Given the description of an element on the screen output the (x, y) to click on. 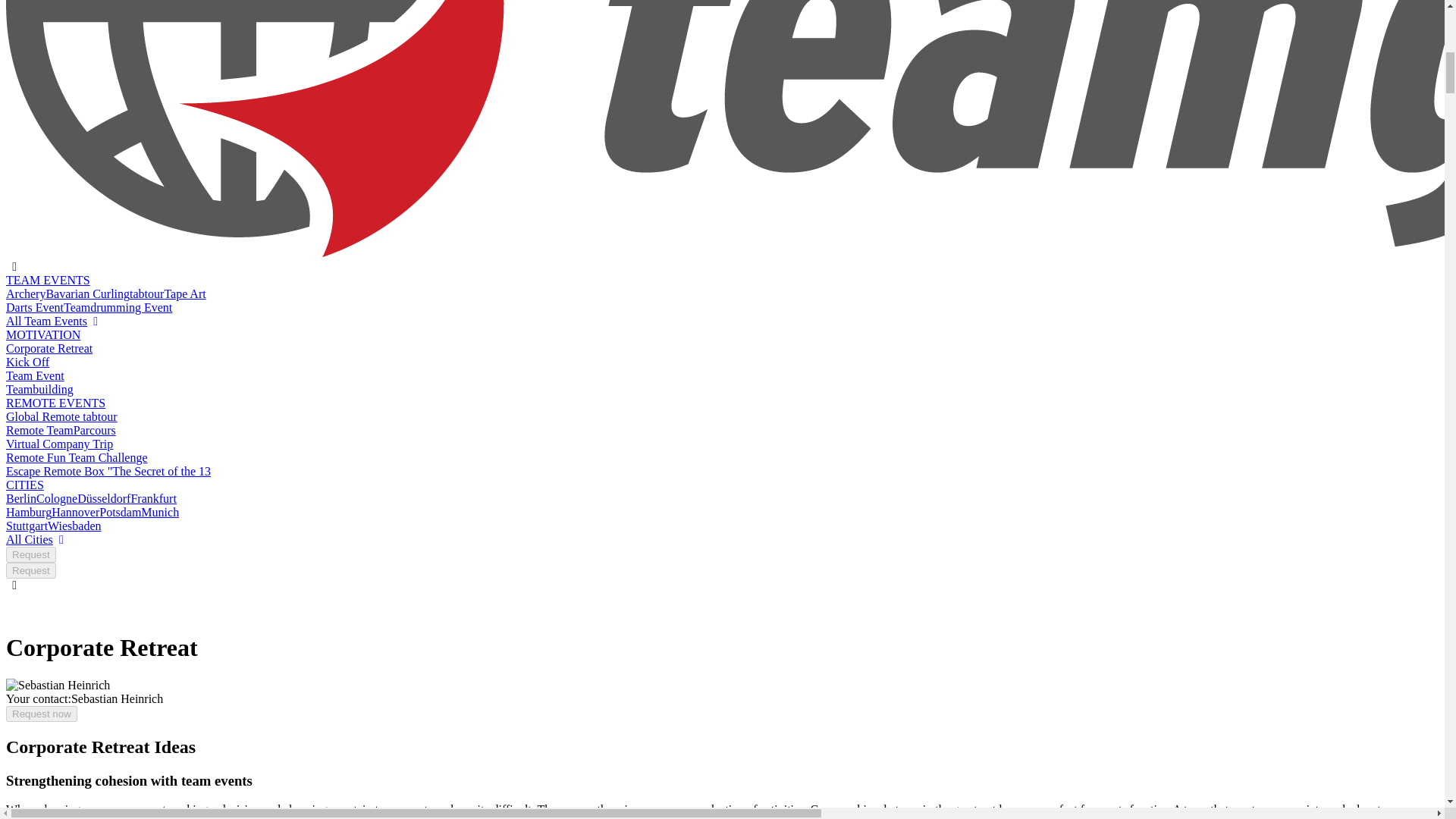
Global Remote tabtour (61, 416)
Cologne (56, 498)
MOTIVATION (42, 334)
Berlin (20, 498)
Wiesbaden (74, 525)
Remote Fun Team Challenge (76, 457)
Request (30, 554)
Virtual Company Trip (59, 443)
TEAM EVENTS (47, 279)
Request now (41, 713)
